Given the description of an element on the screen output the (x, y) to click on. 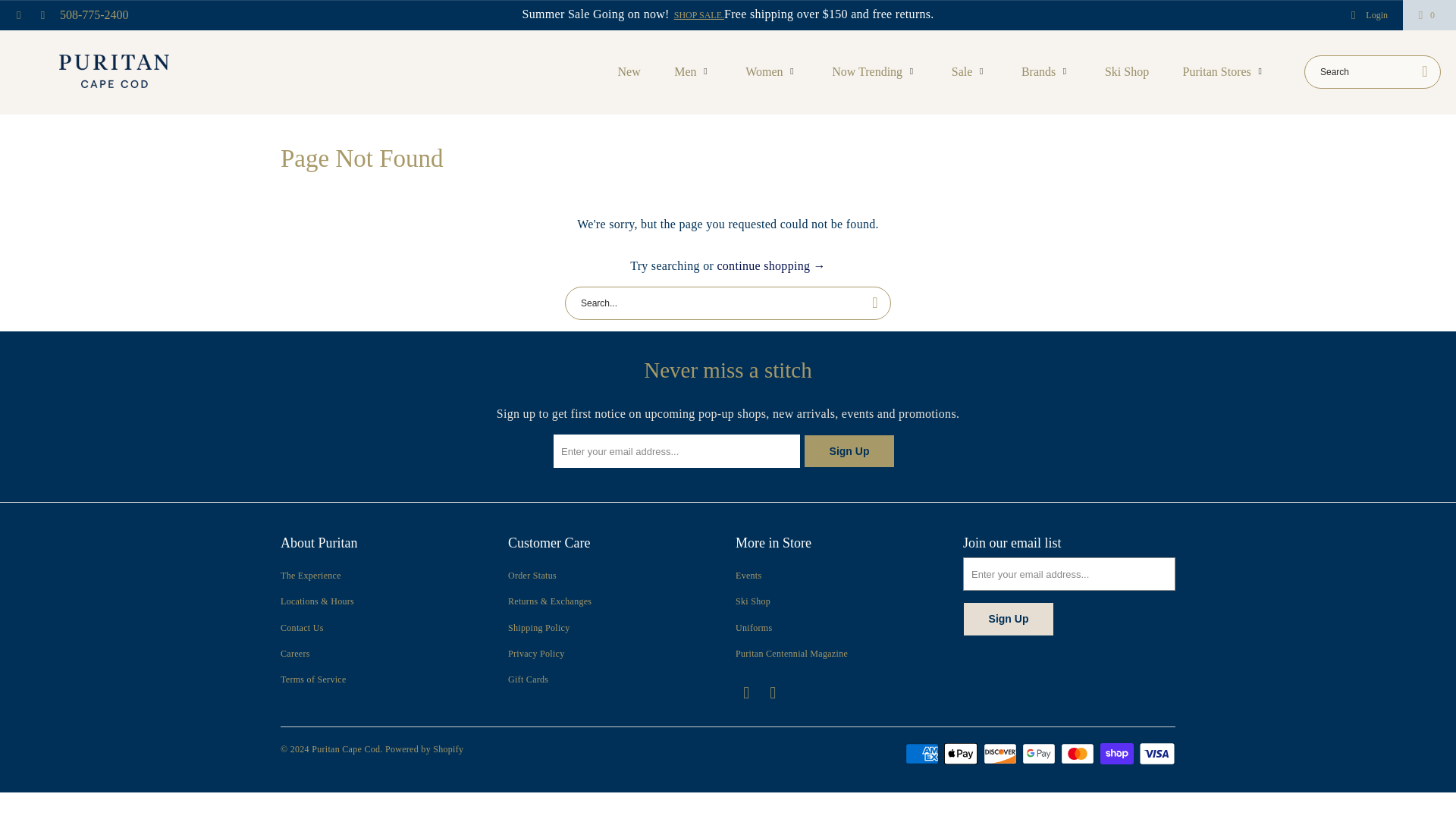
Mastercard (1079, 753)
Discover (1002, 753)
American Express (923, 753)
Apple Pay (961, 753)
Sign Up (849, 450)
Sign Up (1008, 618)
Google Pay (1040, 753)
Shop Pay (1118, 753)
Visa (1156, 753)
